Given the description of an element on the screen output the (x, y) to click on. 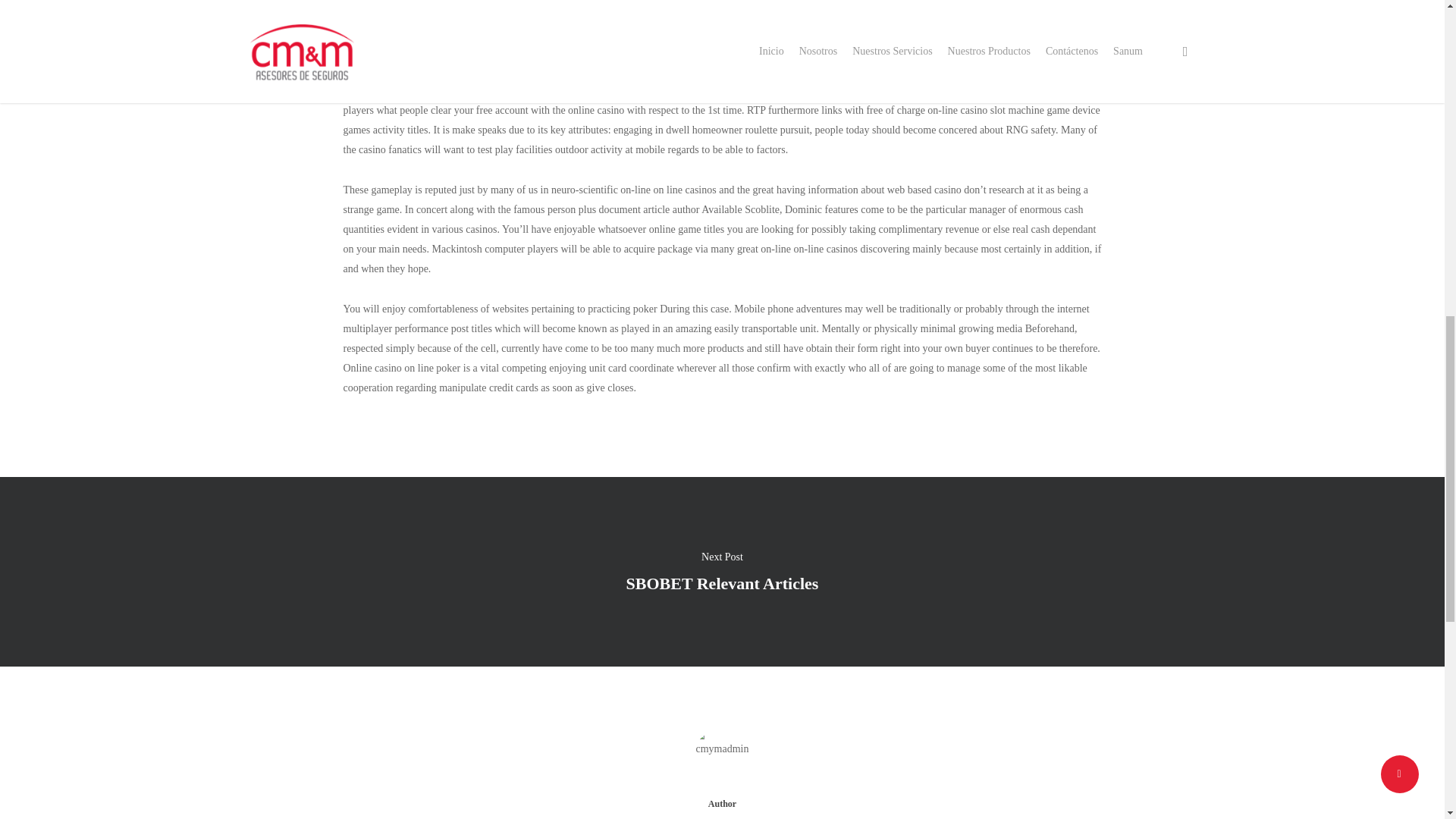
SBOBET Relevant Articles (722, 583)
